Given the description of an element on the screen output the (x, y) to click on. 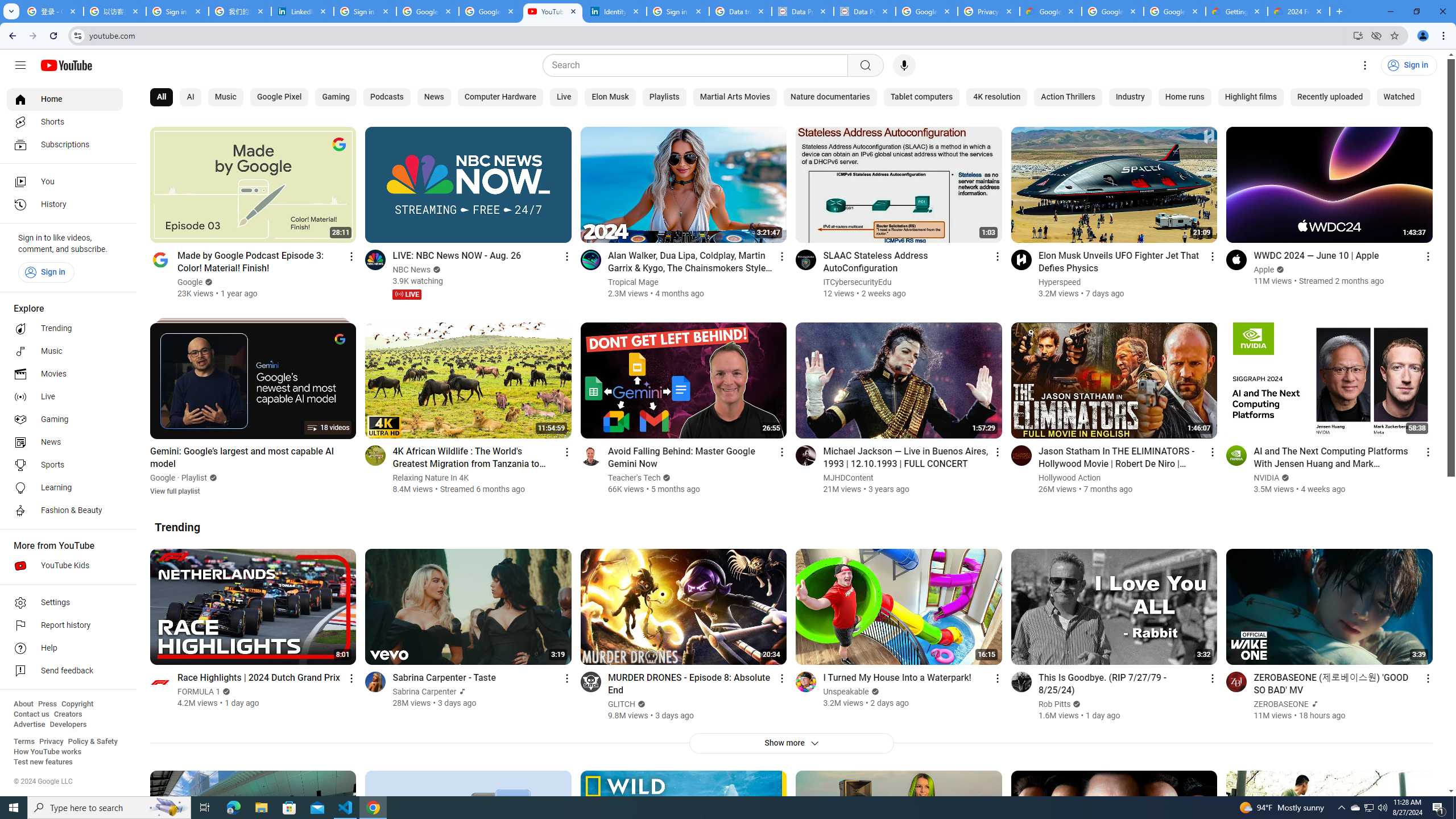
Elon Musk (610, 97)
Policy & Safety (91, 741)
Computer Hardware (500, 97)
Sign in - Google Accounts (678, 11)
Search with your voice (903, 65)
